Given the description of an element on the screen output the (x, y) to click on. 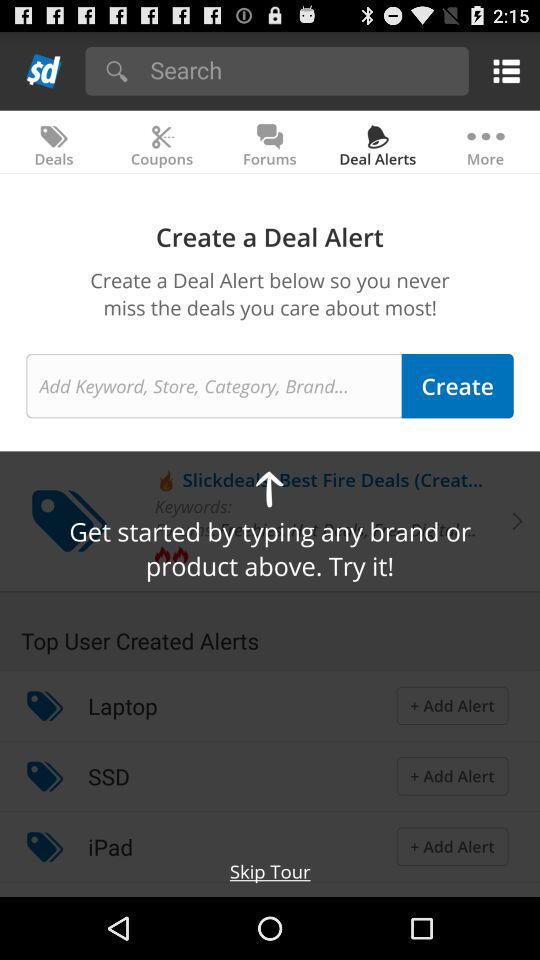
choose the keywords: item (193, 505)
